Given the description of an element on the screen output the (x, y) to click on. 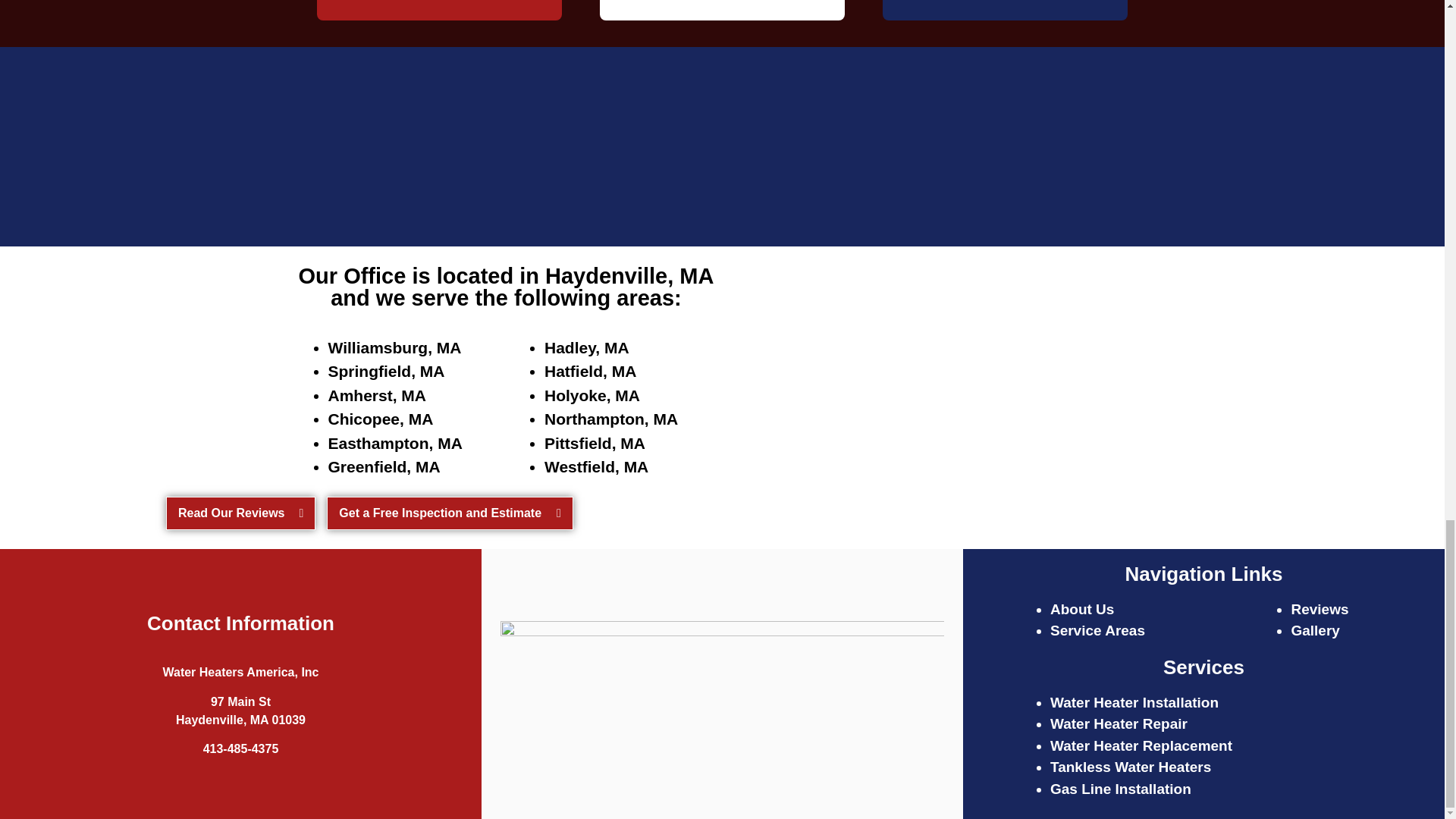
Water Heater Replacement (1140, 745)
Gallery (1314, 630)
Water Heater Installation (1133, 702)
Get a Free Inspection and Estimate (449, 512)
Haydenvilla, MA (938, 367)
Tankless Water Heaters (1130, 766)
Read Our Reviews (240, 512)
Water Heater Repair (1118, 723)
